Given the description of an element on the screen output the (x, y) to click on. 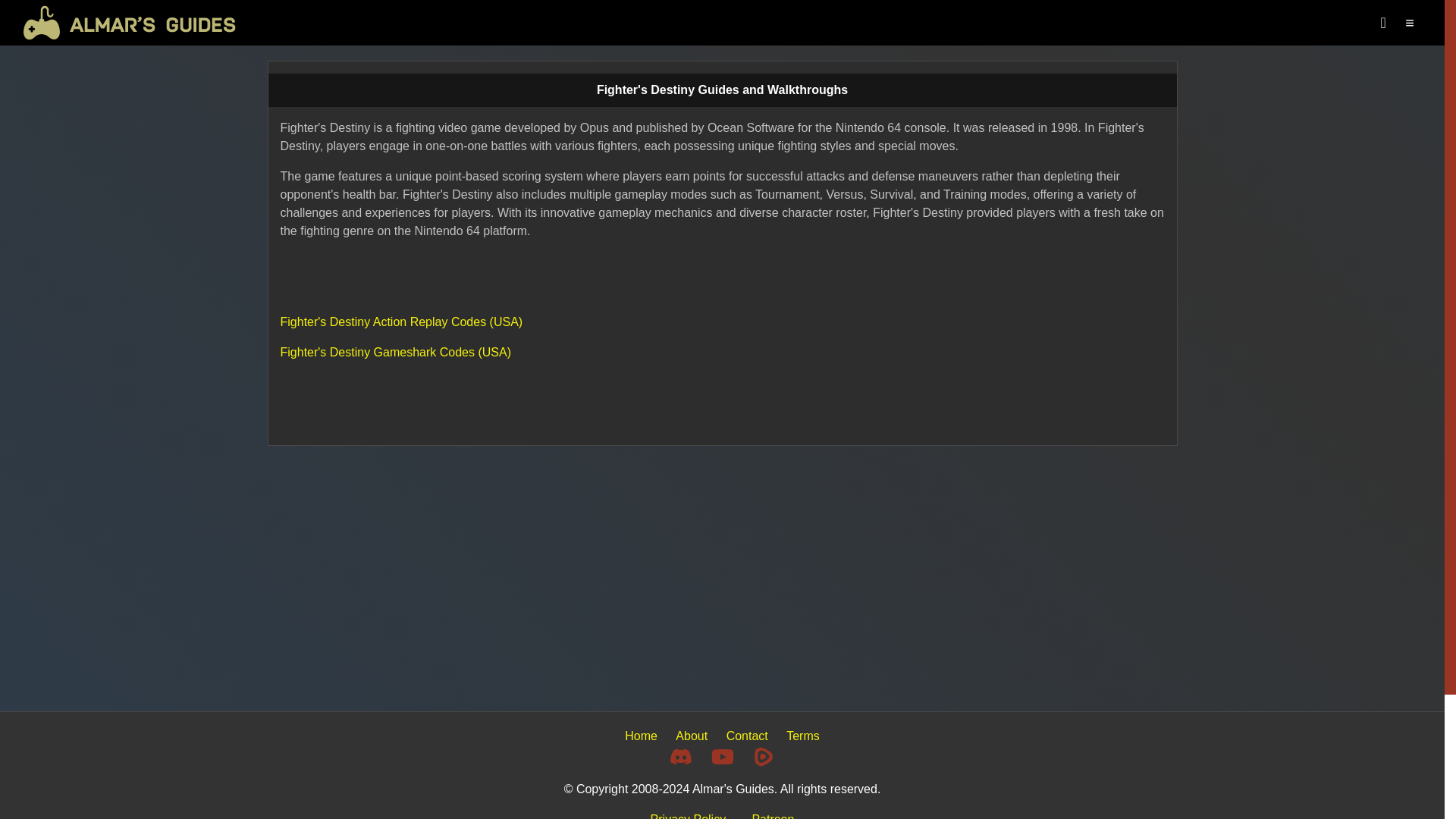
Privacy Policy (688, 816)
Rumble (763, 756)
Youtube (722, 756)
Home (641, 735)
Contact (747, 735)
Patreon (772, 816)
About (691, 735)
Discord (681, 756)
Terms (802, 735)
